Given the description of an element on the screen output the (x, y) to click on. 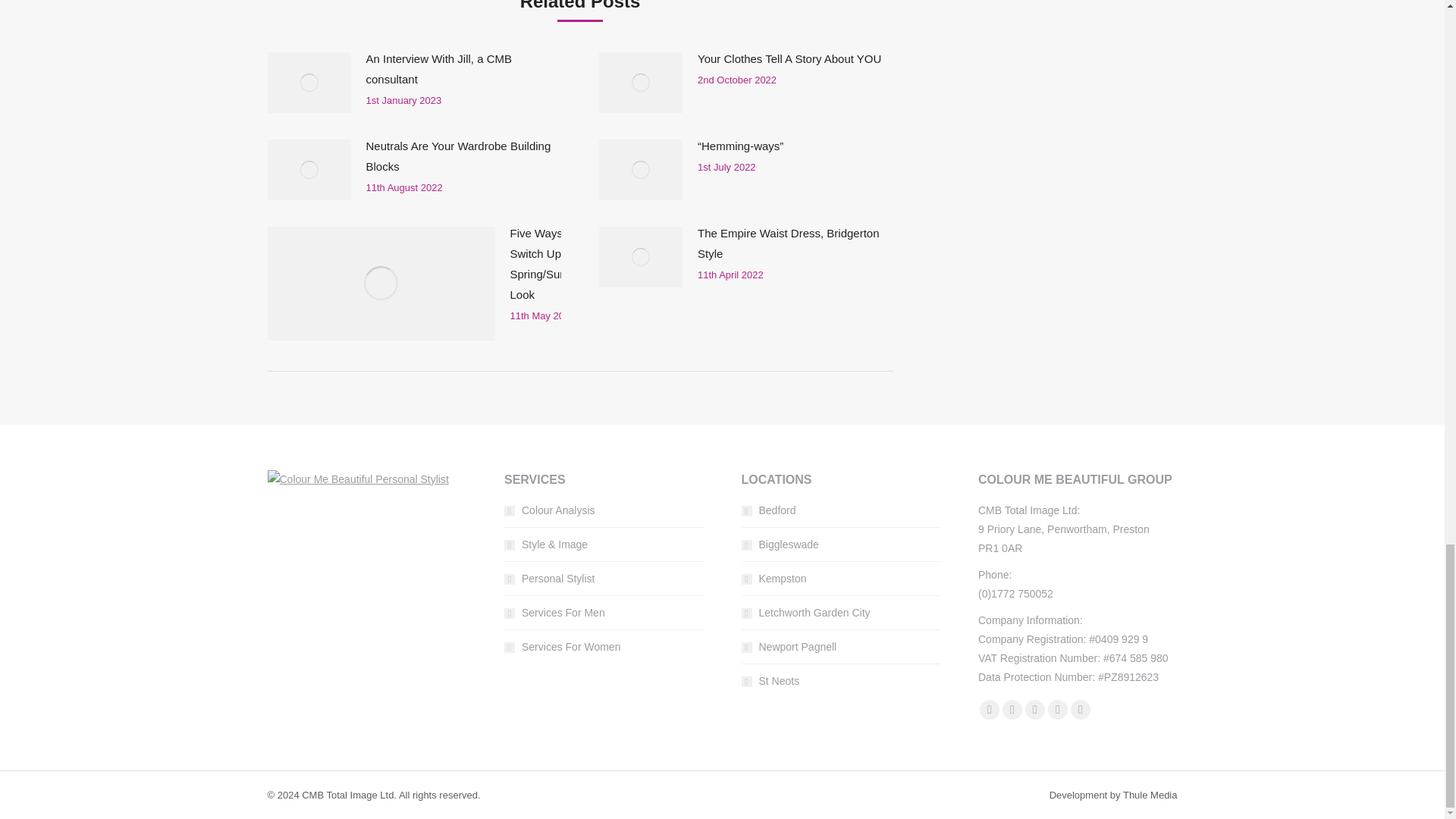
Twitter (1012, 709)
YouTube (1035, 709)
Pinterest (1057, 709)
Facebook (988, 709)
